Given the description of an element on the screen output the (x, y) to click on. 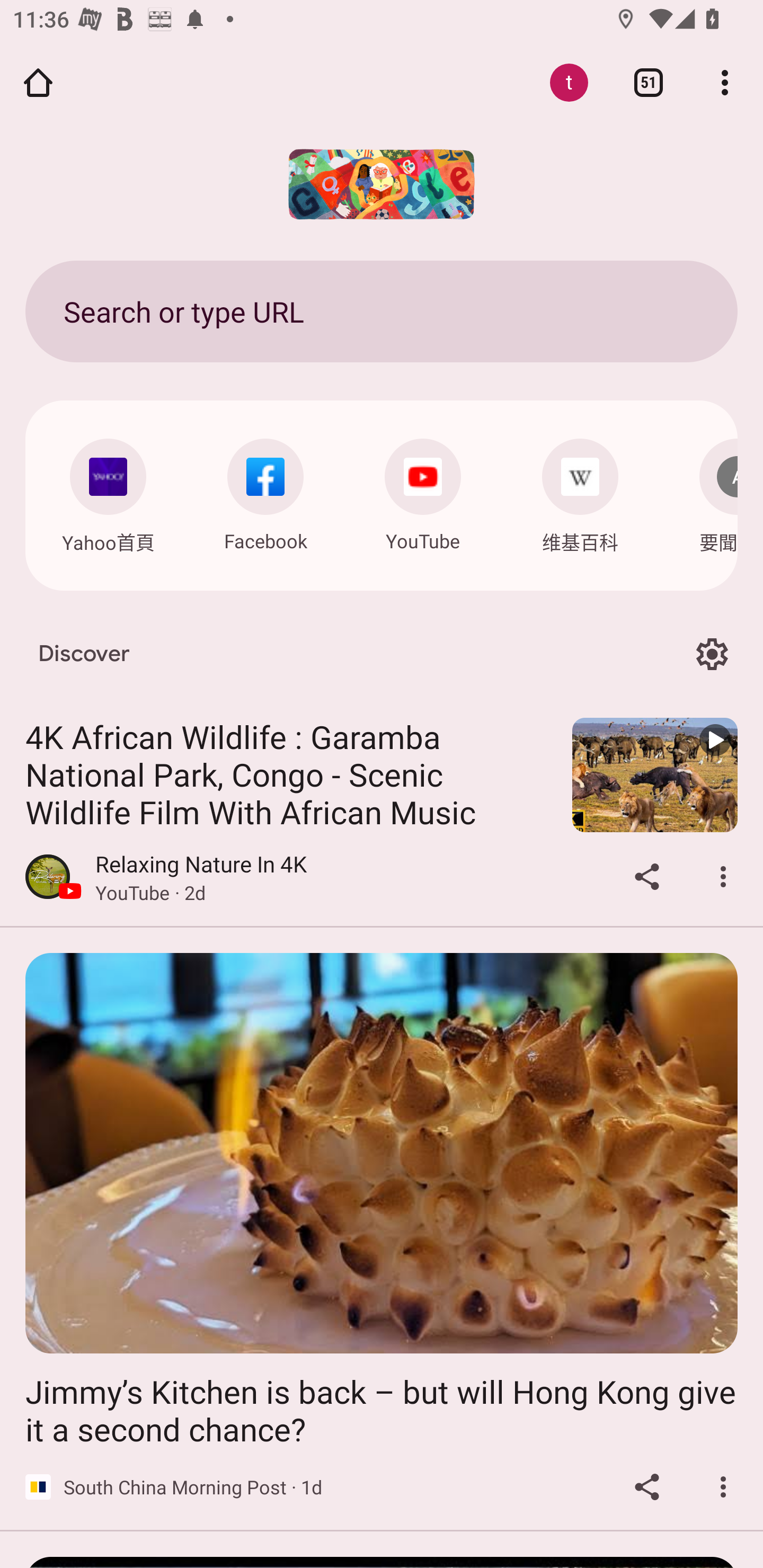
Open the home page (38, 82)
Switch or close tabs (648, 82)
Customize and control Google Chrome (724, 82)
Google doodle: 2024 年国际妇女节 (381, 183)
Search or type URL (381, 311)
Navigate: Yahoo首頁: hk.mobi.yahoo.com Yahoo首頁 (107, 491)
Navigate: Facebook: m.facebook.com Facebook (265, 490)
Navigate: YouTube: m.youtube.com YouTube (422, 490)
Navigate: 维基百科: zh.m.wikipedia.org 维基百科 (579, 491)
Options for Discover (711, 654)
